Given the description of an element on the screen output the (x, y) to click on. 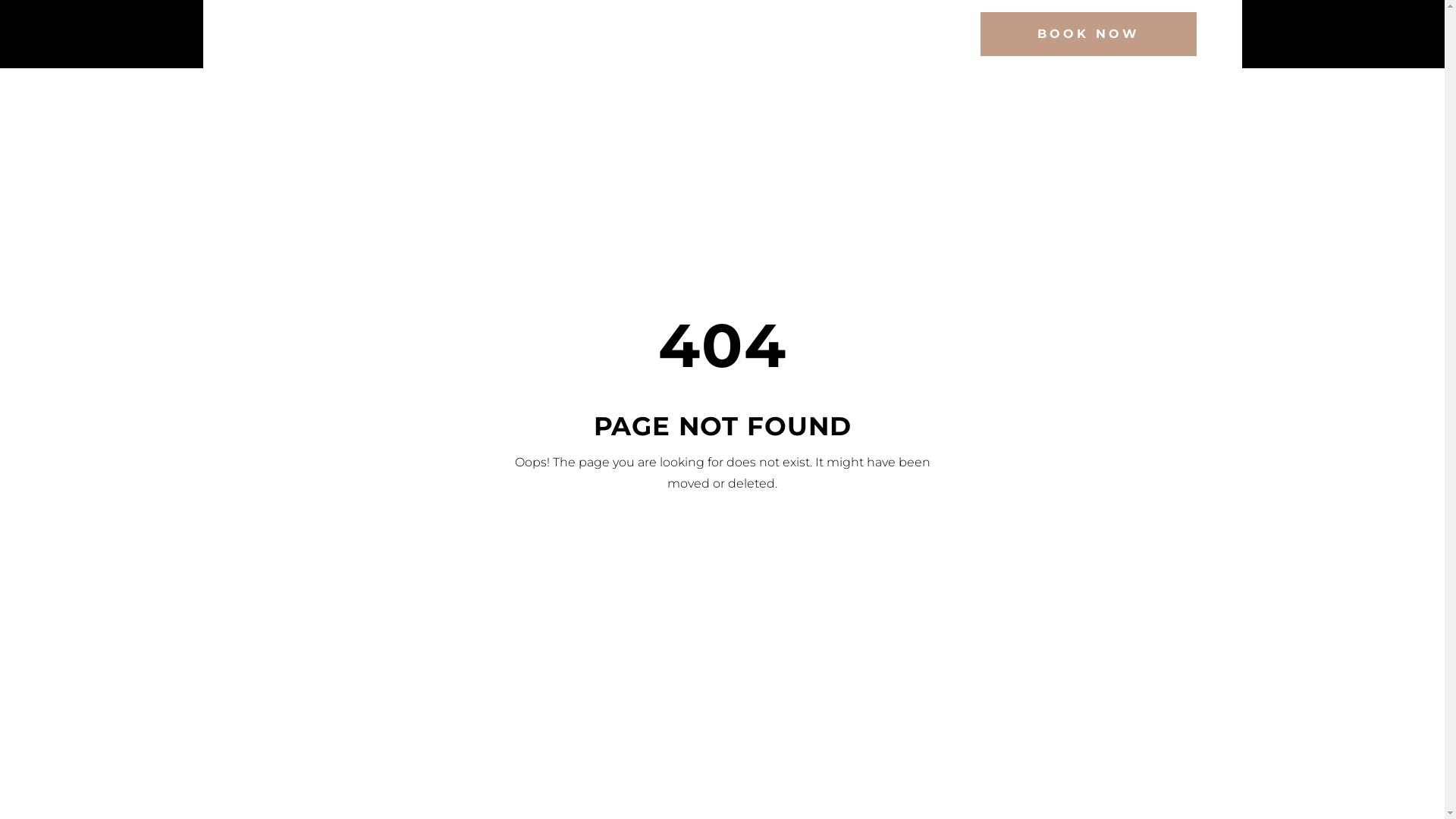
BOOK NOW Element type: text (1087, 34)
ABOUT Element type: text (725, 34)
BACK TO HOME Element type: text (721, 544)
PRICING < Element type: text (544, 34)
CONTACT Element type: text (903, 34)
GALLERY Element type: text (641, 34)
CAREERS Element type: text (809, 34)
